Given the description of an element on the screen output the (x, y) to click on. 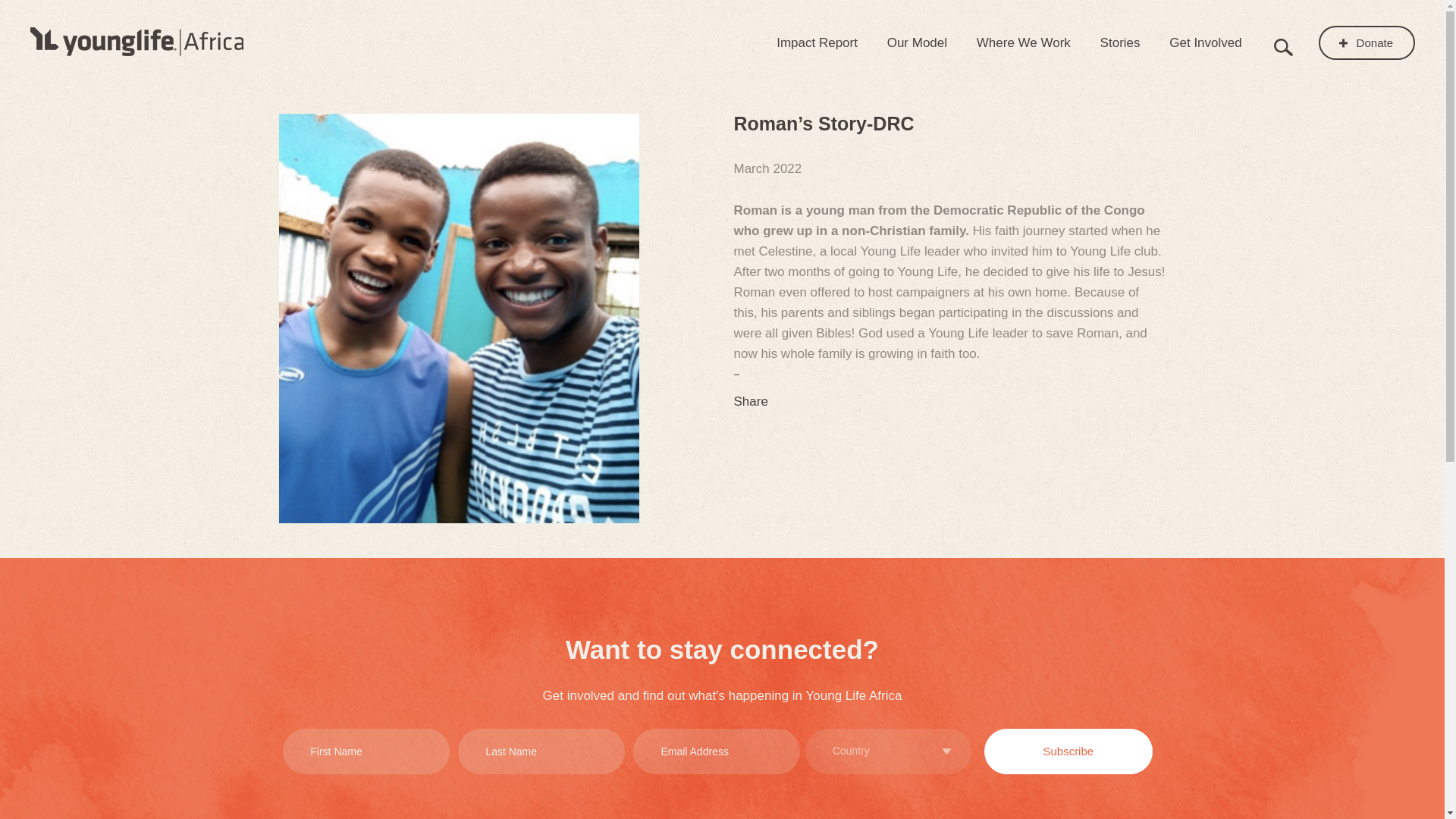
Subscribe (1068, 750)
Get Involved (1205, 42)
Young Life Africa (136, 41)
Donate (1367, 42)
Impact Report (816, 42)
Stories (1120, 42)
Subscribe (1068, 750)
Search (1283, 46)
Where We Work (1023, 42)
Search (1283, 46)
Search (1283, 46)
Our Model (916, 42)
